Given the description of an element on the screen output the (x, y) to click on. 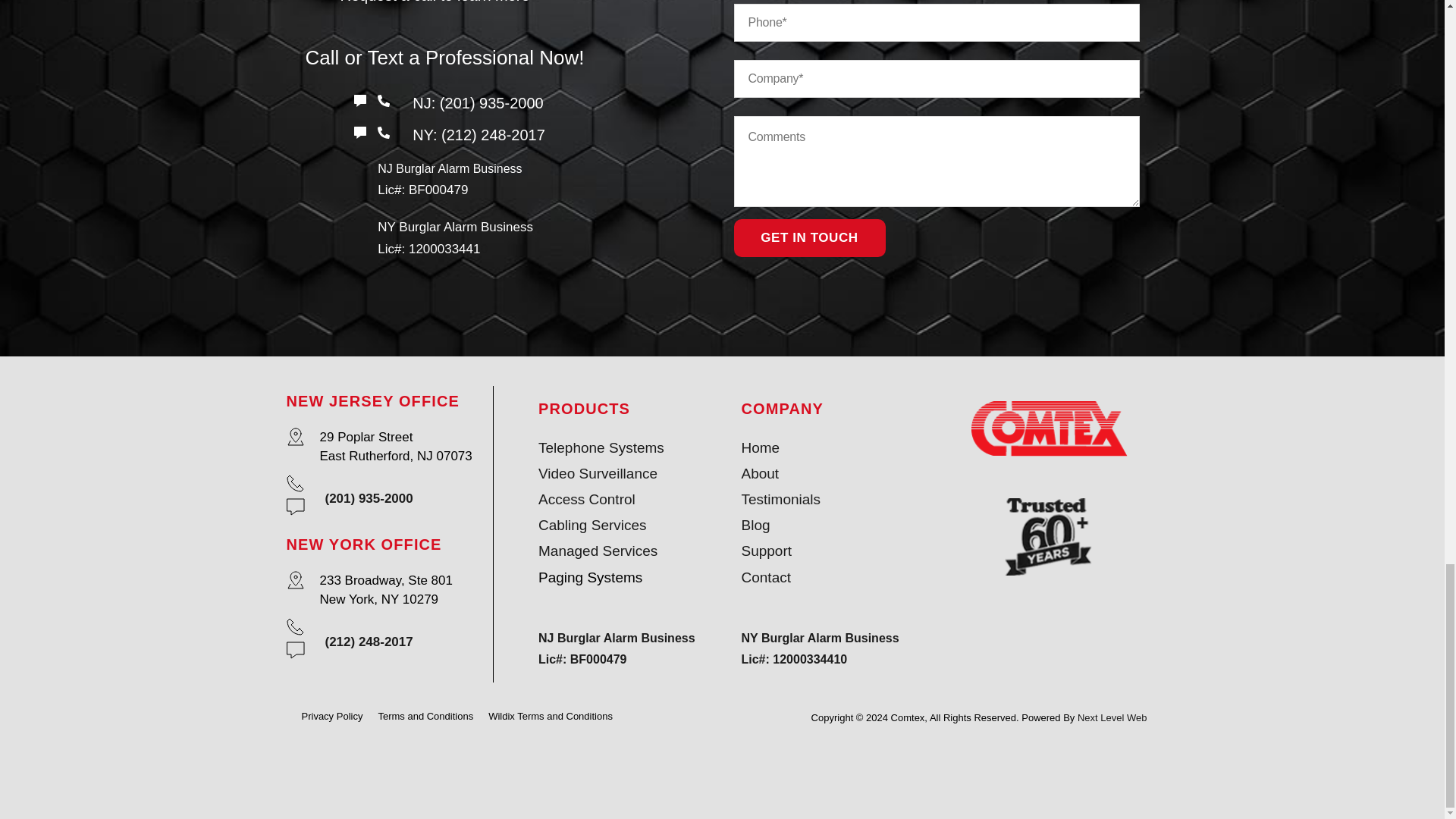
GET IN TOUCH (809, 238)
